Given the description of an element on the screen output the (x, y) to click on. 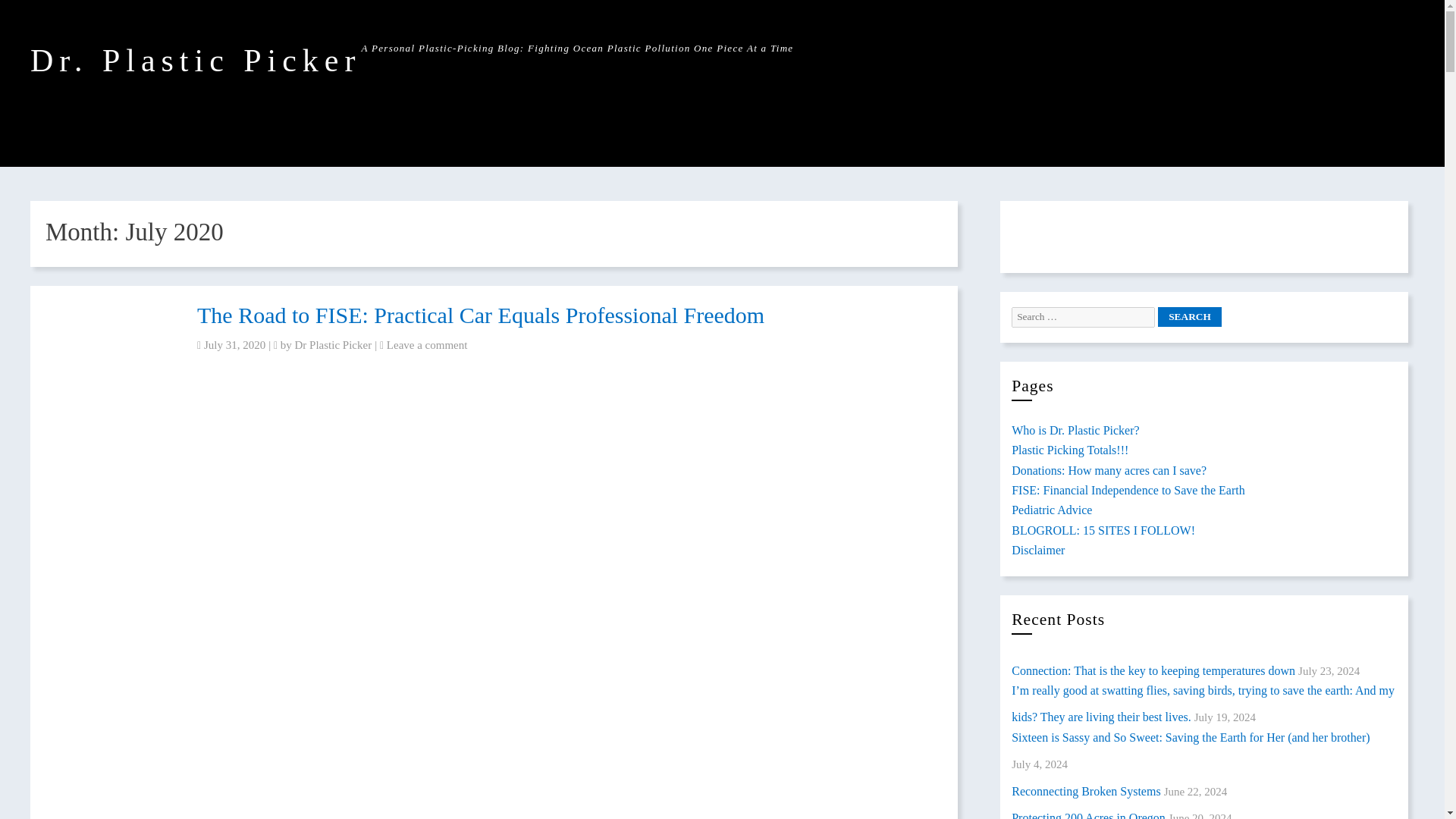
The Road to FISE: Practical Car Equals Professional Freedom (480, 314)
Leave a comment (427, 345)
Facebook (1063, 234)
Follow by Email (1029, 234)
Dr Plastic Picker (333, 345)
Search (1189, 316)
Dr. Plastic Picker (195, 60)
Instagram (1098, 234)
